Given the description of an element on the screen output the (x, y) to click on. 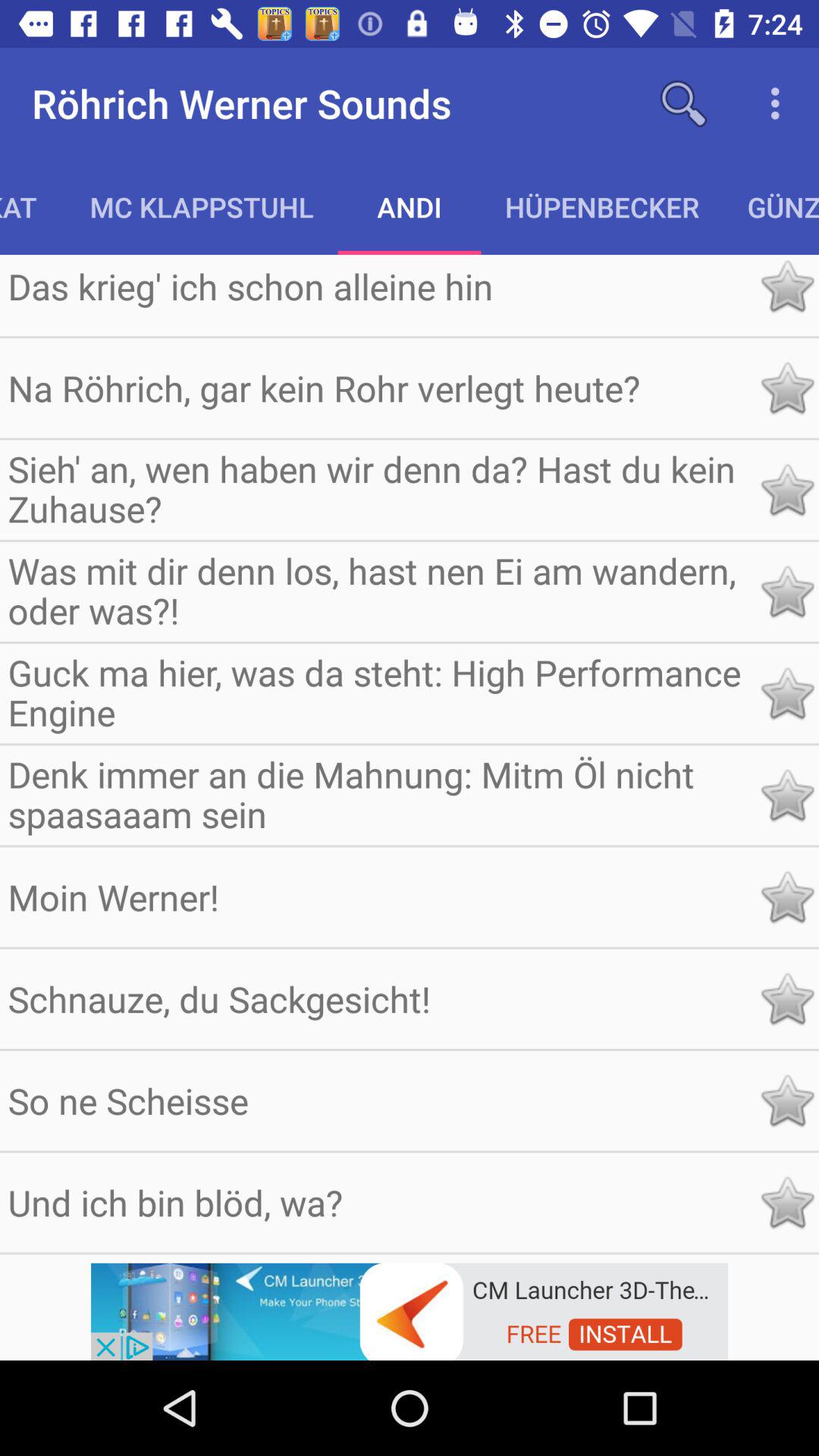
important to know (787, 795)
